Given the description of an element on the screen output the (x, y) to click on. 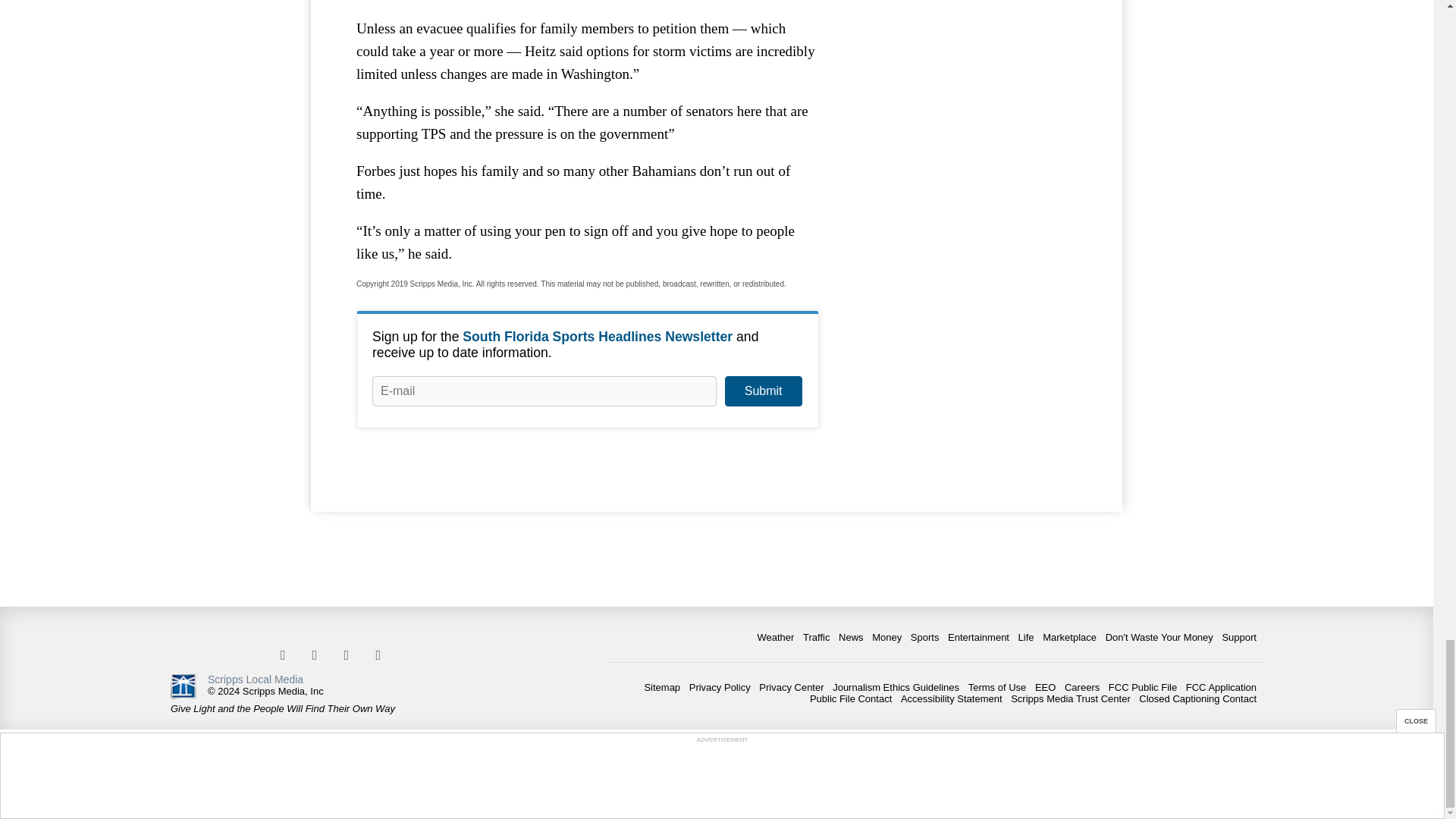
Submit (763, 390)
